Given the description of an element on the screen output the (x, y) to click on. 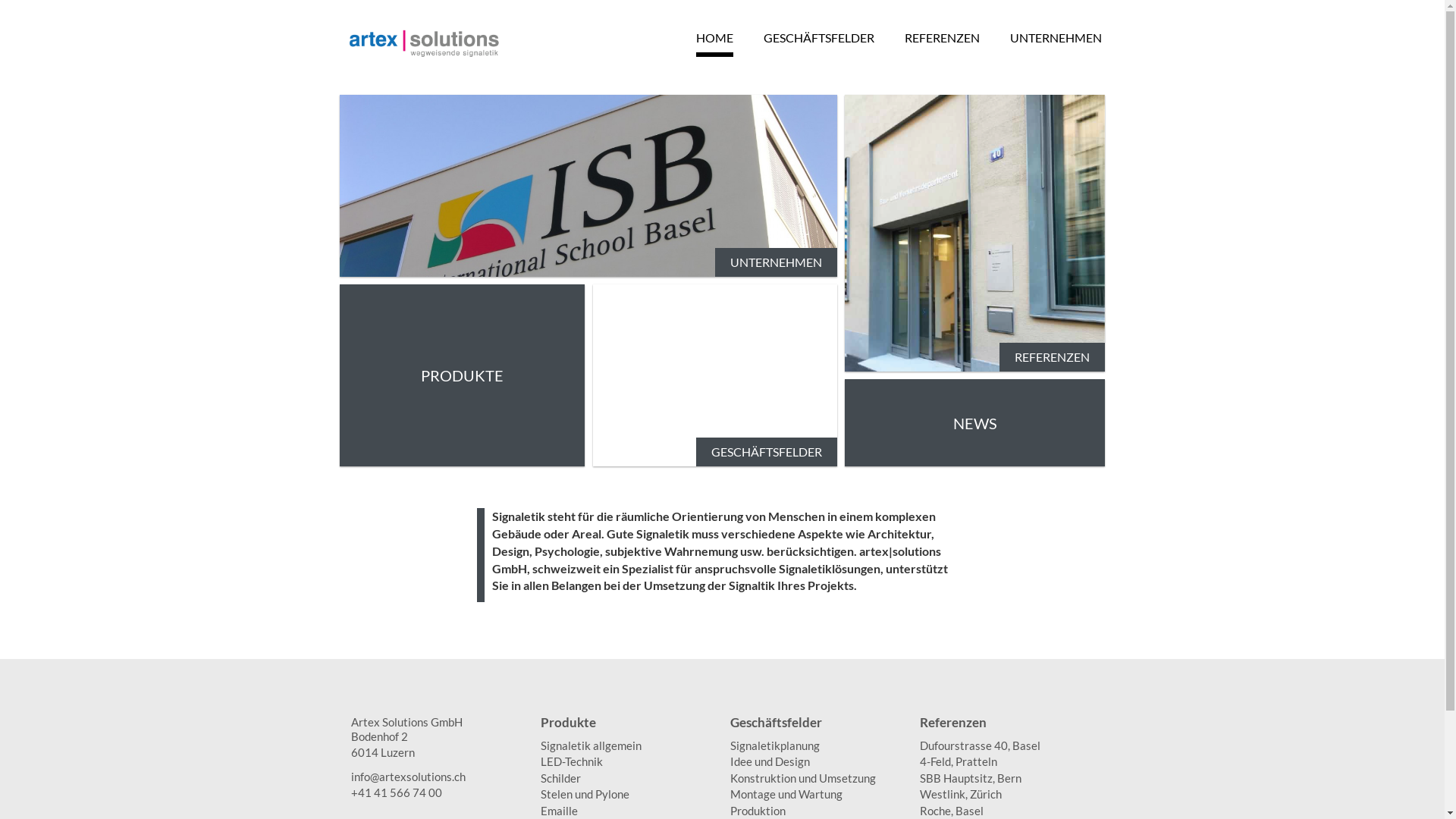
Idee und Design Element type: text (816, 761)
SBB Hauptsitz, Bern Element type: text (1006, 778)
LED-Technik Element type: text (626, 761)
Produkte Element type: text (626, 726)
UNTERNEHMEN Element type: text (588, 185)
Signaletik allgemein Element type: text (626, 745)
Dufourstrasse 40, Basel Element type: text (1006, 745)
info@artexsolutions.ch Element type: text (437, 776)
Konstruktion und Umsetzung Element type: text (816, 778)
Artex Solutions GmbH Element type: text (437, 721)
Stelen und Pylone Element type: text (626, 794)
PRODUKTE Element type: text (461, 375)
REFERENZEN Element type: text (974, 232)
4-Feld, Pratteln Element type: text (1006, 761)
NEWS Element type: text (974, 422)
Signaletikplanung Element type: text (816, 745)
Referenzen Element type: text (1006, 726)
Montage und Wartung Element type: text (816, 794)
Schilder Element type: text (626, 778)
